Given the description of an element on the screen output the (x, y) to click on. 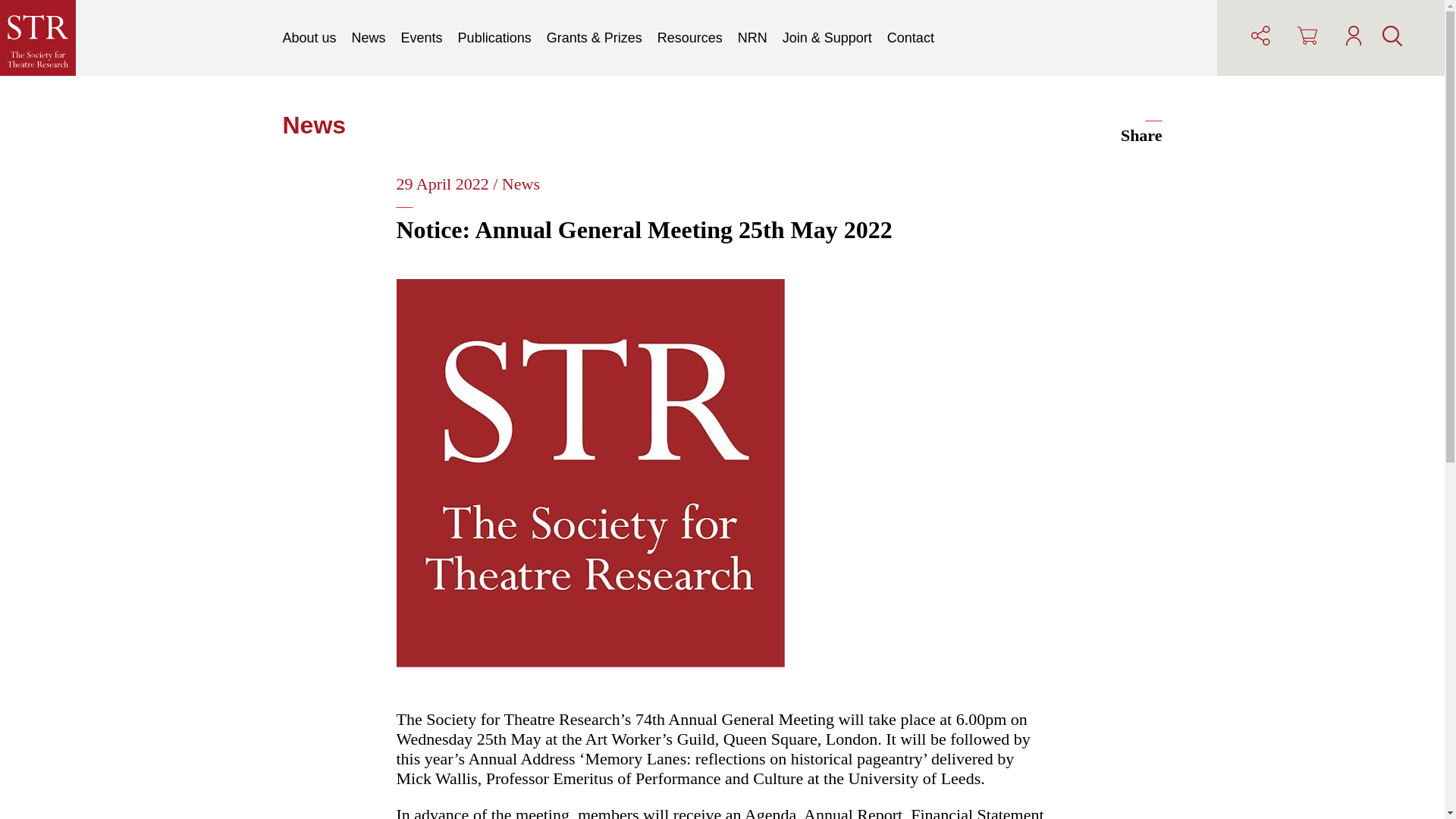
News (368, 37)
Events (421, 37)
Resources (690, 37)
Publications (494, 37)
NRN (752, 37)
Society for Theatre Research  (37, 38)
About us (309, 37)
News (368, 37)
About us (309, 37)
Events (421, 37)
